Given the description of an element on the screen output the (x, y) to click on. 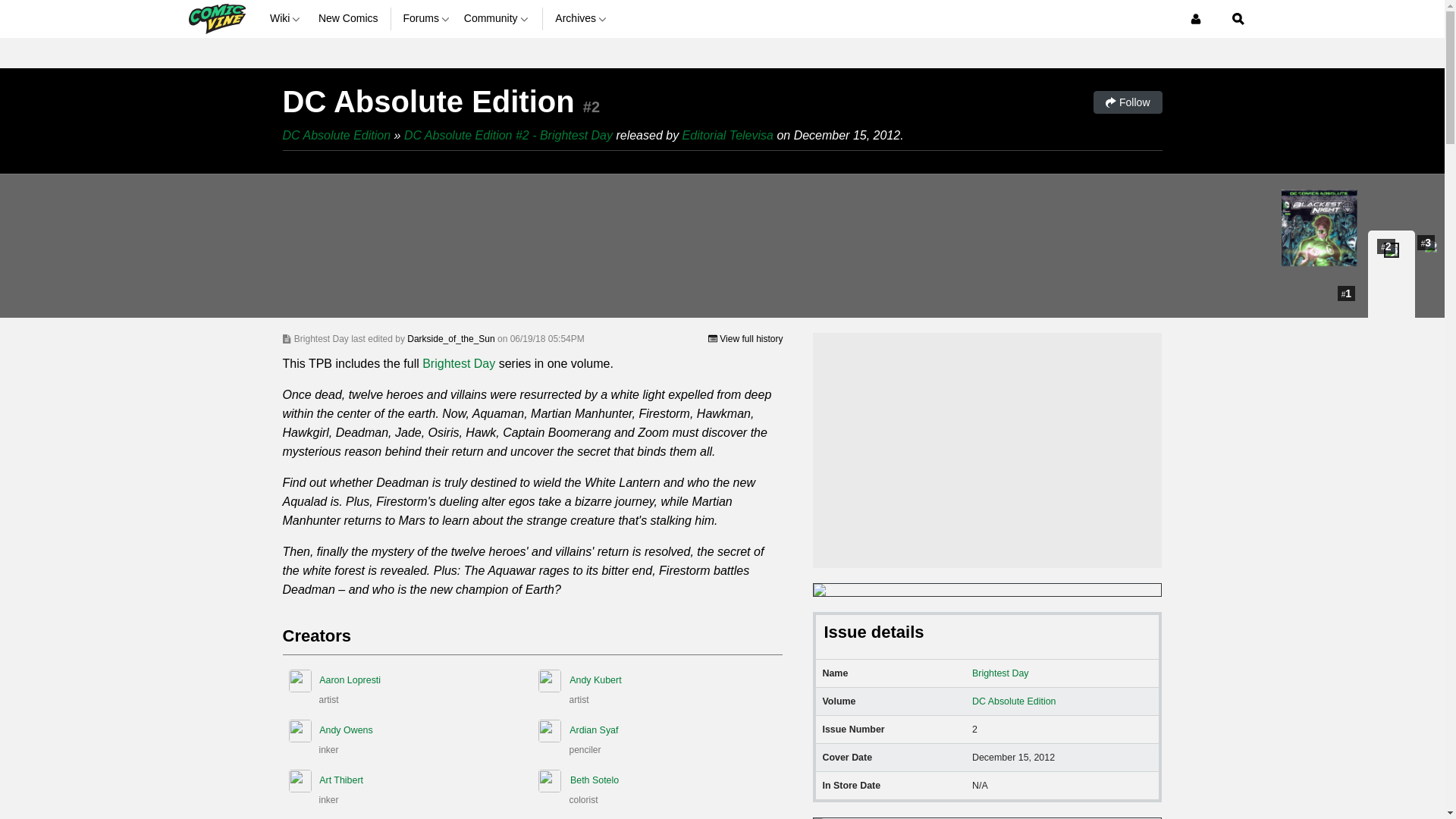
Comic Vine (215, 18)
Community (497, 18)
Forums (427, 18)
New Comics (348, 18)
Wiki (287, 18)
